Given the description of an element on the screen output the (x, y) to click on. 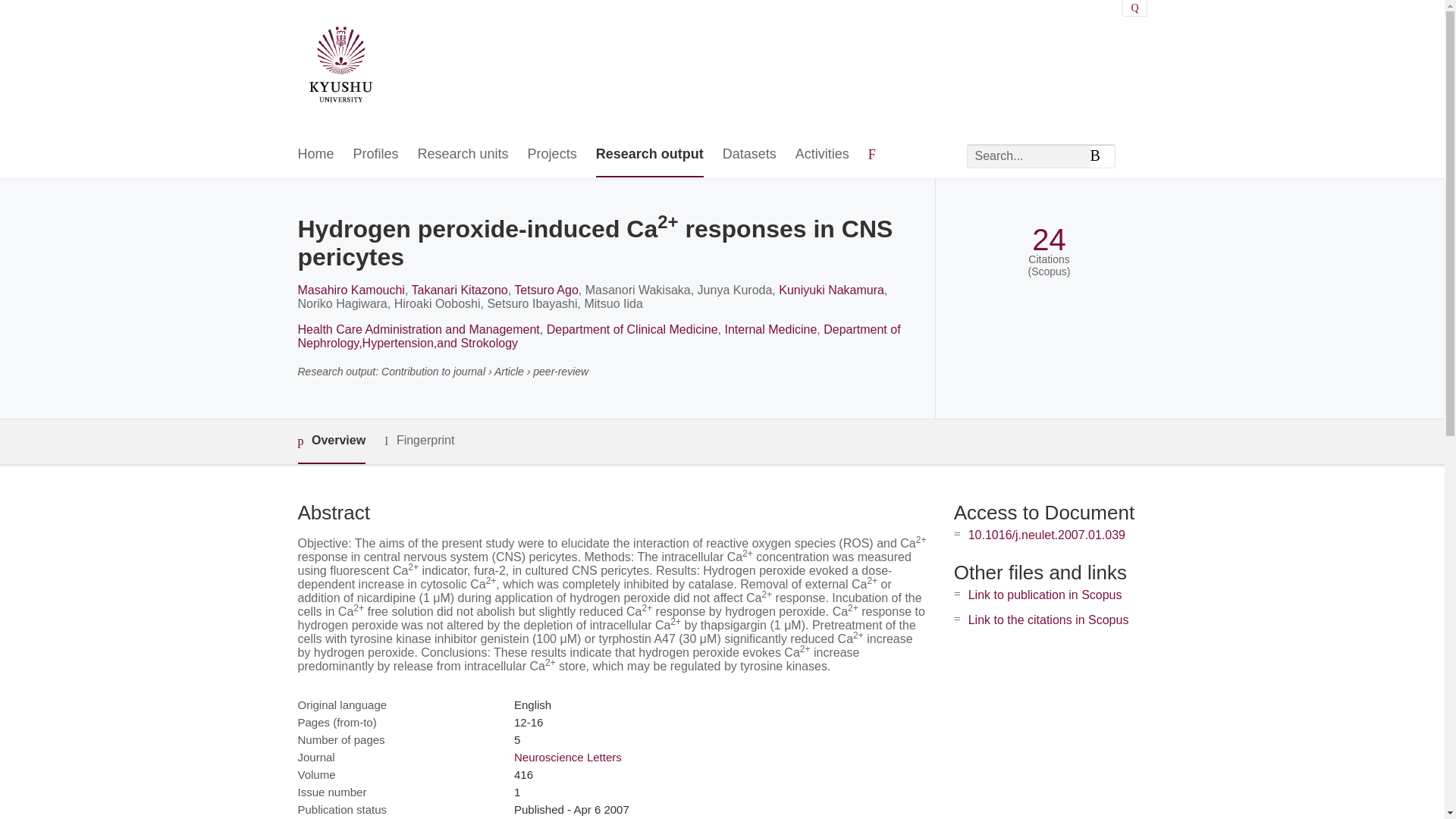
Fingerprint (419, 440)
Profiles (375, 154)
Neuroscience Letters (567, 757)
Tetsuro Ago (545, 289)
Masahiro Kamouchi (350, 289)
Link to publication in Scopus (1045, 594)
Projects (551, 154)
Internal Medicine (769, 328)
Link to the citations in Scopus (1048, 619)
Department of Nephrology,Hypertension,and Strokology (598, 335)
Datasets (749, 154)
Kuniyuki Nakamura (830, 289)
Research units (462, 154)
Research output (649, 154)
